Given the description of an element on the screen output the (x, y) to click on. 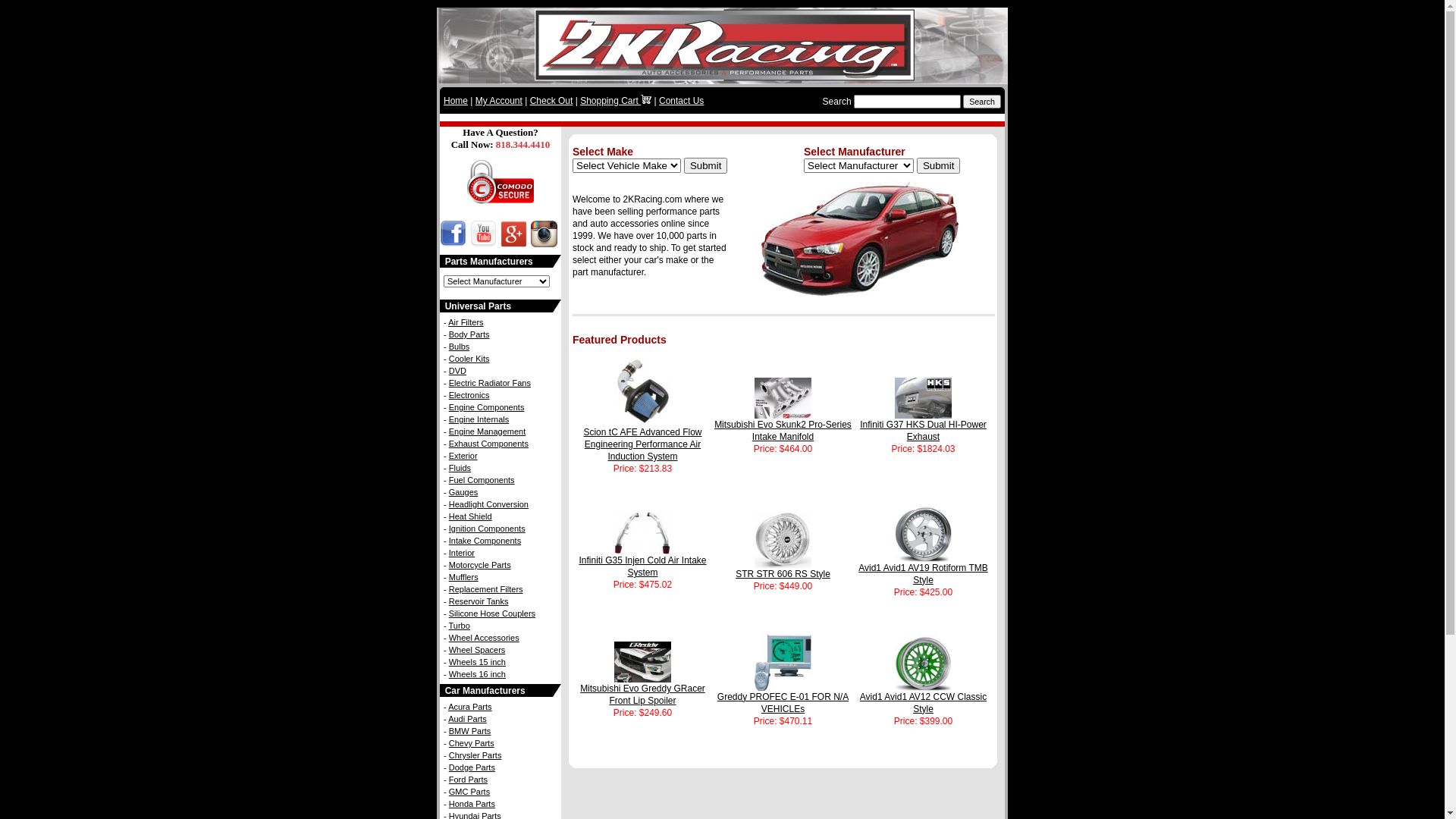
Wheels 15 inch Element type: text (476, 661)
Air Filters Element type: text (465, 321)
Reservoir Tanks Element type: text (478, 600)
Wheels 16 inch Element type: text (476, 673)
Engine Internals Element type: text (478, 418)
Exhaust Components Element type: text (488, 443)
Ford Parts Element type: text (467, 779)
Submit Element type: text (938, 165)
Mitsubishi Evo Greddy GRacer Front Lip Spoiler Element type: text (642, 690)
2KRacing Instagram Element type: hover (542, 242)
Audi Parts Element type: text (467, 718)
Interior Element type: text (461, 552)
Wheel Accessories Element type: text (483, 637)
Replacement Filters Element type: text (485, 588)
DVD Element type: text (457, 370)
2KRacing Google Plus Element type: hover (511, 242)
Bulbs Element type: text (459, 346)
Exterior Element type: text (462, 455)
Dodge Parts Element type: text (471, 766)
Engine Management Element type: text (487, 431)
STR STR 606 RS Style Element type: text (782, 569)
Avid1 Avid1 AV12 CCW Classic Style Element type: text (922, 698)
My Account Element type: text (498, 100)
Submit Element type: text (705, 165)
Heat Shield Element type: text (470, 515)
Headlight Conversion Element type: text (488, 503)
Wheel Spacers Element type: text (476, 649)
Silicone Hose Couplers Element type: text (491, 613)
Avid1 Avid1 AV19 Rotiform TMB Style Element type: text (923, 569)
Home Element type: text (455, 100)
Body Parts Element type: text (468, 333)
Contact Us Element type: text (680, 100)
Acura Parts Element type: text (469, 706)
Mufflers Element type: text (463, 576)
Cooler Kits Element type: text (468, 358)
Shopping Cart Element type: text (615, 100)
Fuel Components Element type: text (481, 479)
Electric Radiator Fans Element type: text (489, 382)
Honda Parts Element type: text (471, 803)
Chevy Parts Element type: text (471, 742)
Chrysler Parts Element type: text (475, 754)
2KRacing Facebook Page - Like Us! Element type: hover (452, 242)
Turbo Element type: text (459, 625)
Motorcycle Parts Element type: text (479, 564)
Greddy PROFEC E-01 FOR N/A VEHICLEs Element type: text (782, 698)
GMC Parts Element type: text (468, 791)
Ignition Components Element type: text (486, 528)
Search Element type: text (982, 101)
Fluids Element type: text (459, 467)
Intake Components Element type: text (484, 540)
BMW Parts Element type: text (469, 730)
Electronics Element type: text (468, 394)
Infiniti G37 HKS Dual HI-Power Exhaust Element type: text (922, 426)
Check Out Element type: text (551, 100)
Gauges Element type: text (463, 491)
Mitsubishi Evo Skunk2 Pro-Series Intake Manifold Element type: text (782, 426)
2KRacing Youtube Channel Element type: hover (481, 242)
Engine Components Element type: text (486, 406)
Infiniti G35 Injen Cold Air Intake System Element type: text (642, 561)
